Given the description of an element on the screen output the (x, y) to click on. 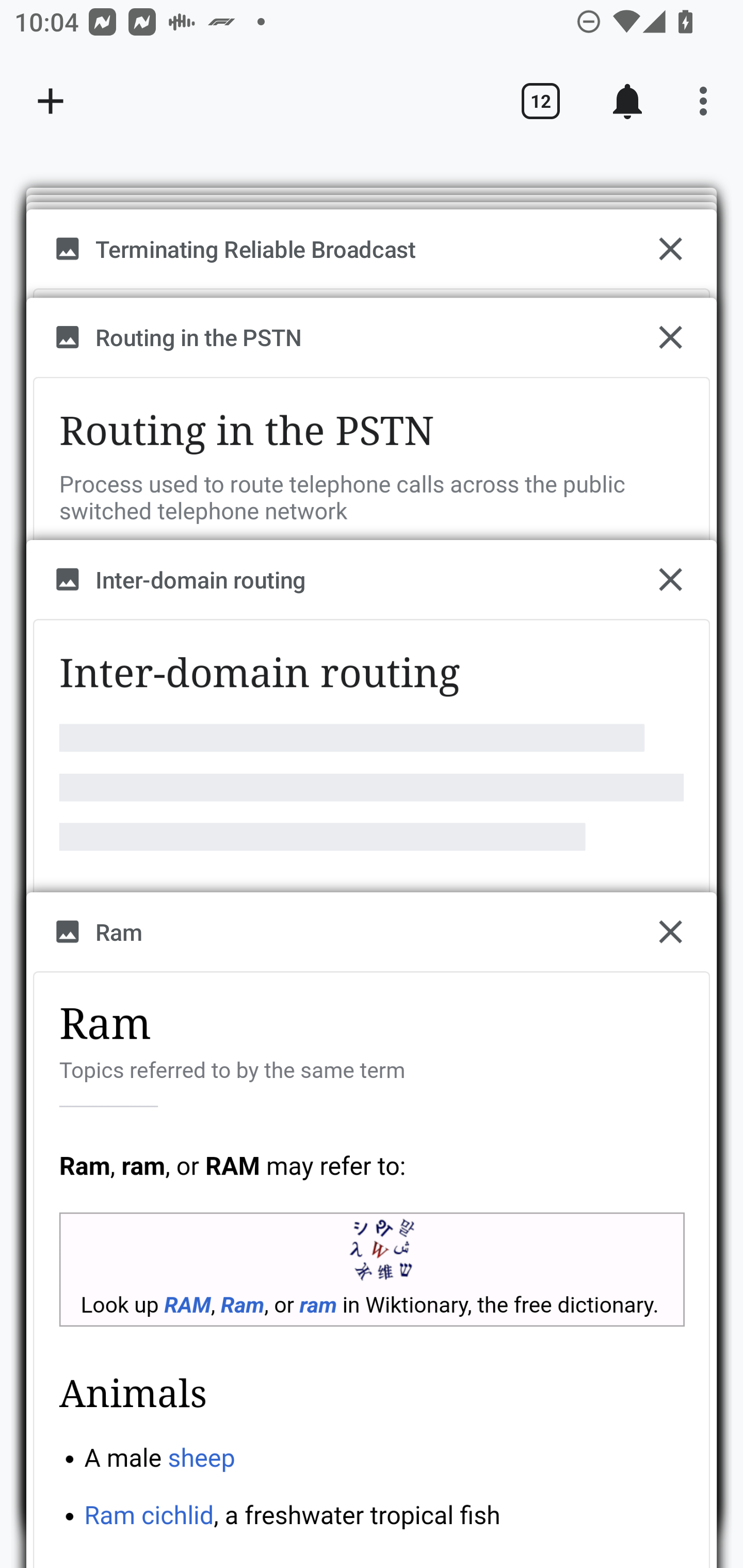
Back 12 (540, 100)
Notifications (626, 100)
New tab (50, 101)
More options (706, 101)
